Given the description of an element on the screen output the (x, y) to click on. 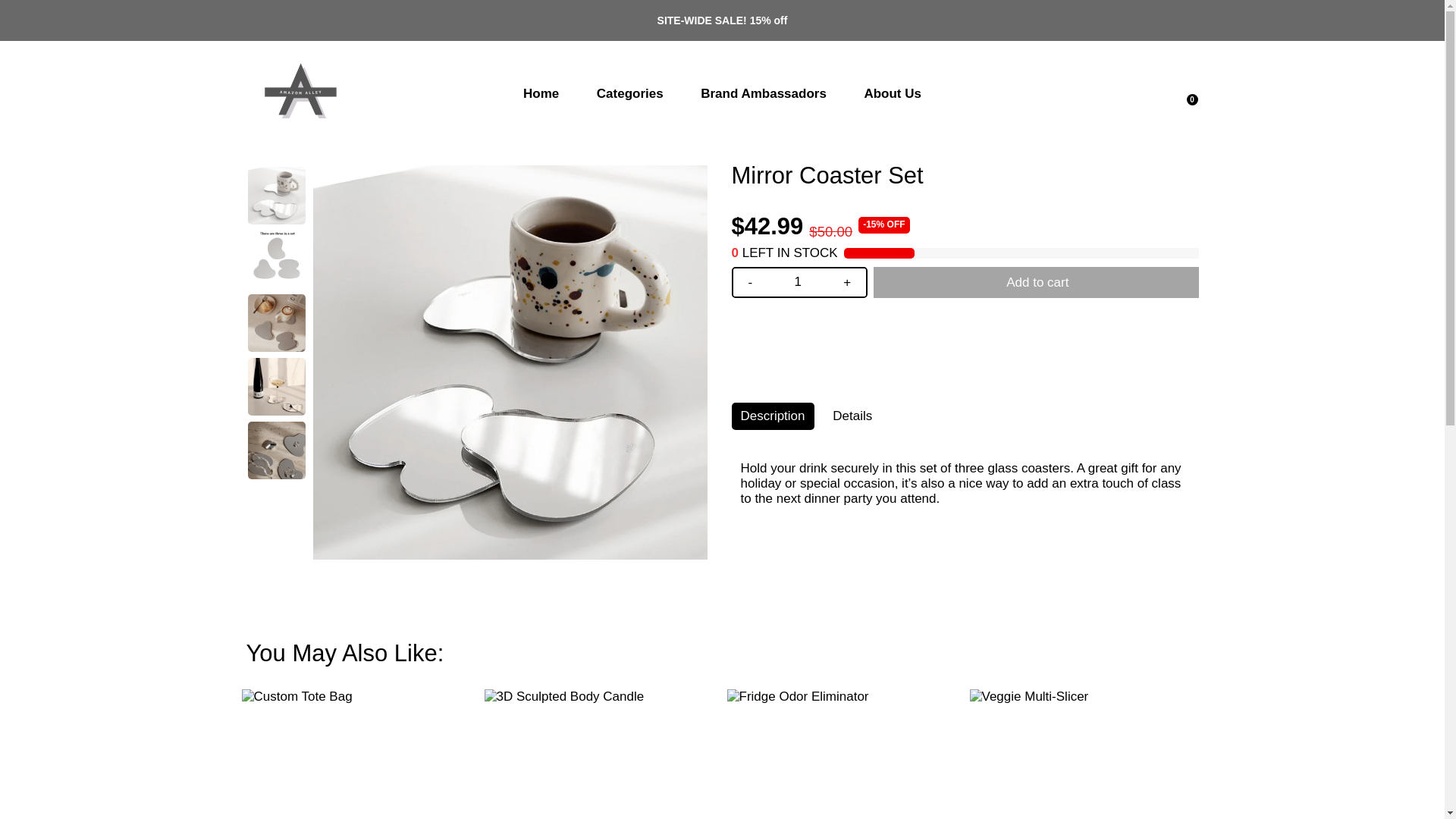
Categories (629, 93)
Home (540, 93)
1 (797, 282)
Brand Ambassadors (763, 93)
About Us (892, 93)
